Given the description of an element on the screen output the (x, y) to click on. 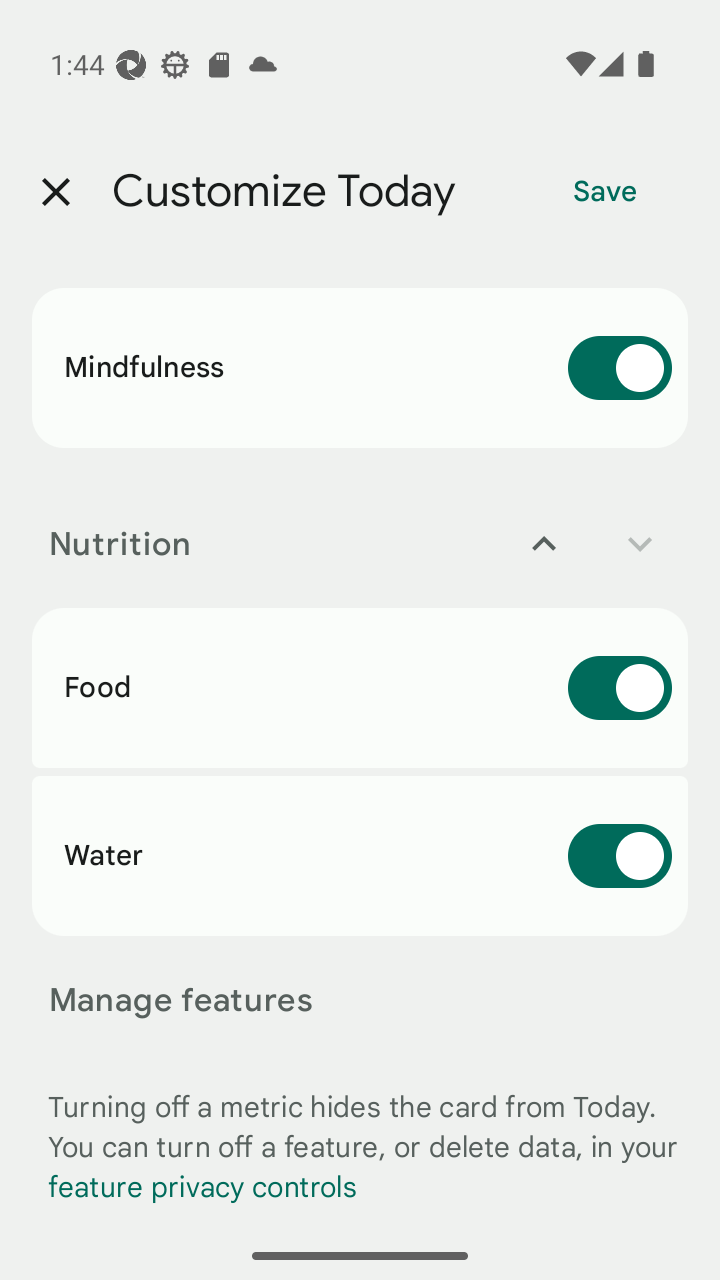
Close (55, 191)
Save (605, 191)
Mindfulness (359, 368)
Move Nutrition up (543, 543)
Move Nutrition down (639, 543)
Food (359, 688)
Water (359, 855)
